Given the description of an element on the screen output the (x, y) to click on. 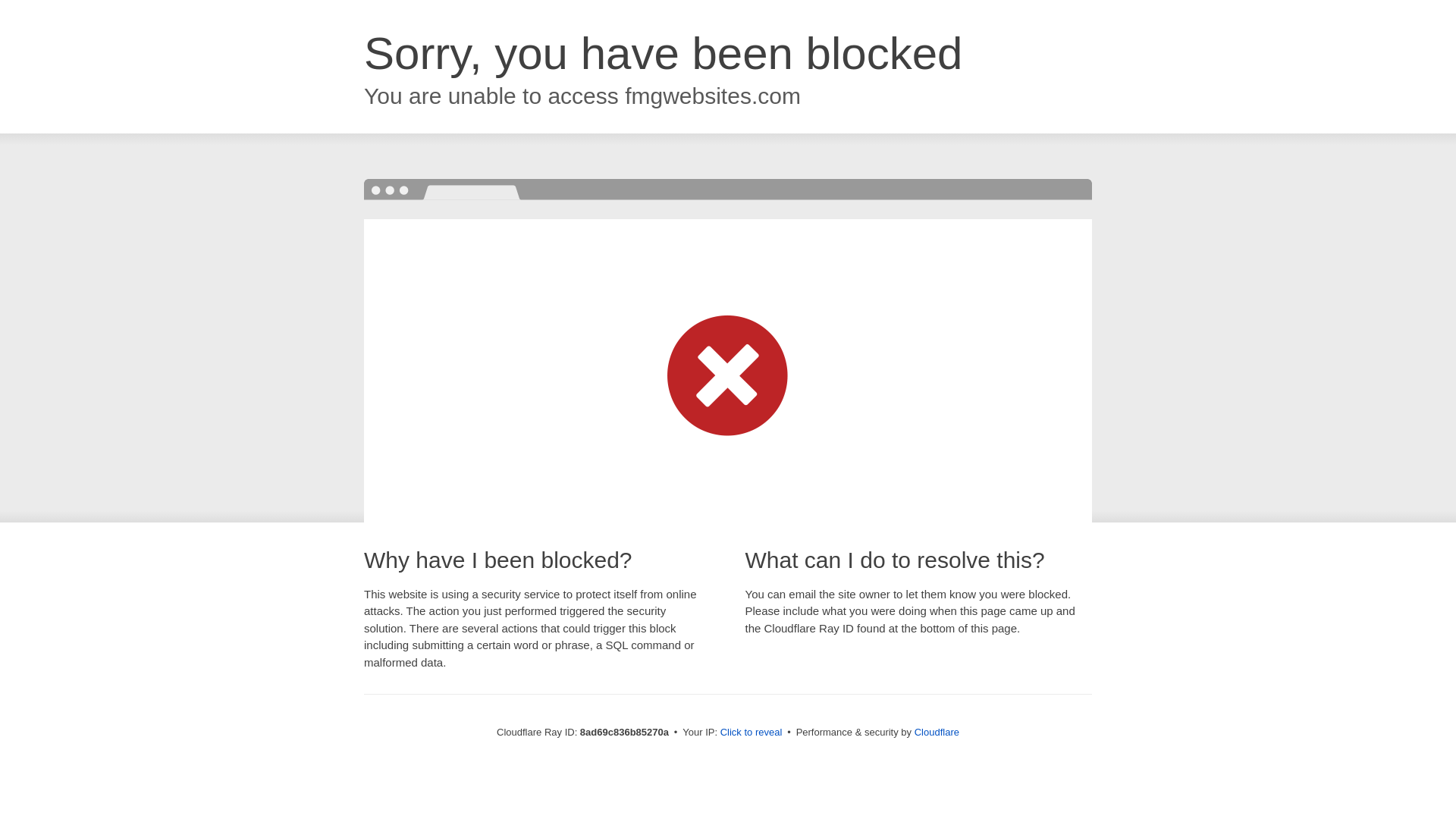
Cloudflare (936, 731)
Click to reveal (751, 732)
